Given the description of an element on the screen output the (x, y) to click on. 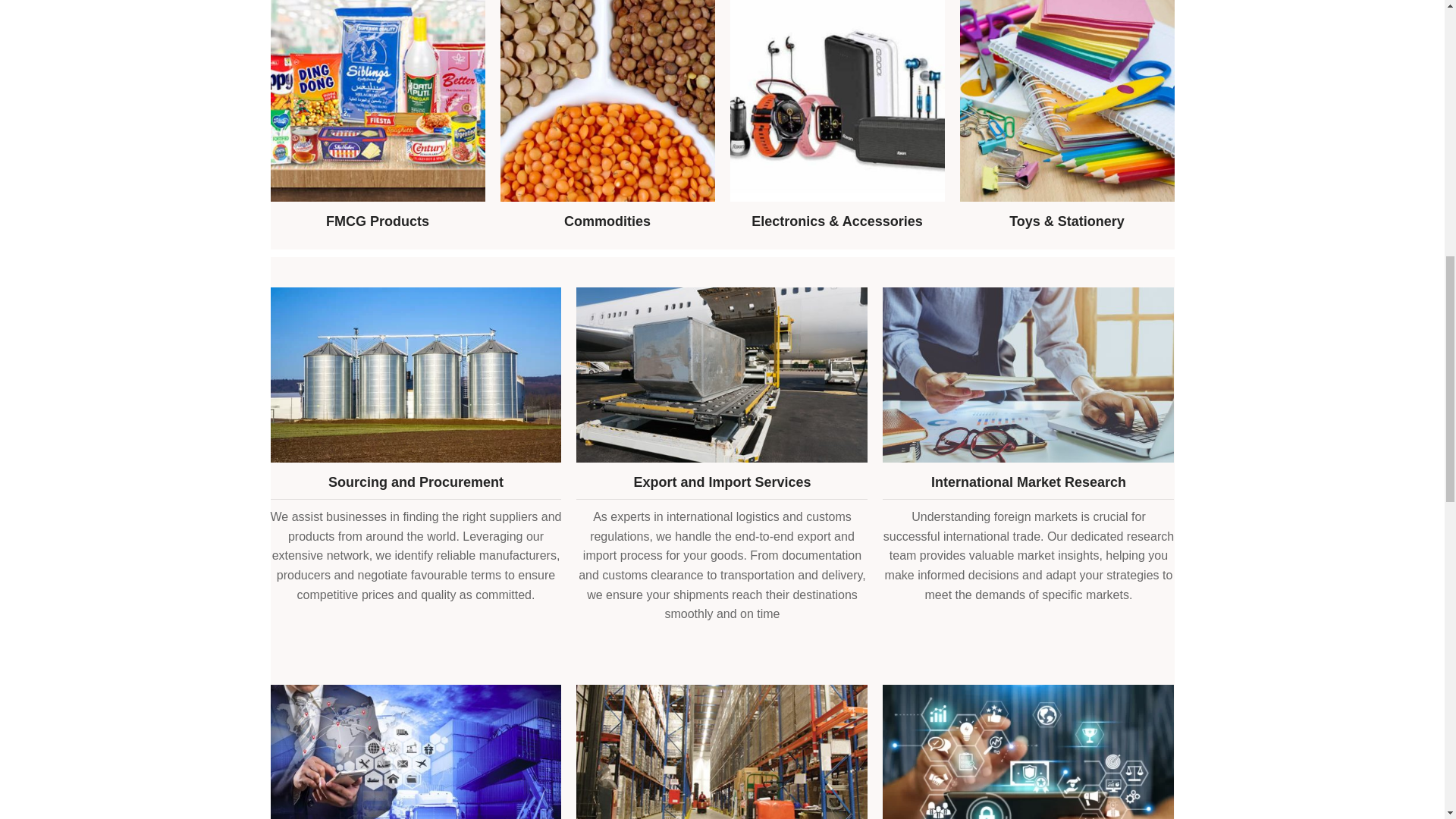
storage-silos (414, 374)
Product-Shot (376, 100)
Best-places-to-buy-school-supplies-in-DUbai-B-10-09 (1066, 100)
Loading platform of air freight to the aircraft (721, 374)
Mobile-accessories-in-Dubai (836, 100)
int market research (1027, 374)
